Given the description of an element on the screen output the (x, y) to click on. 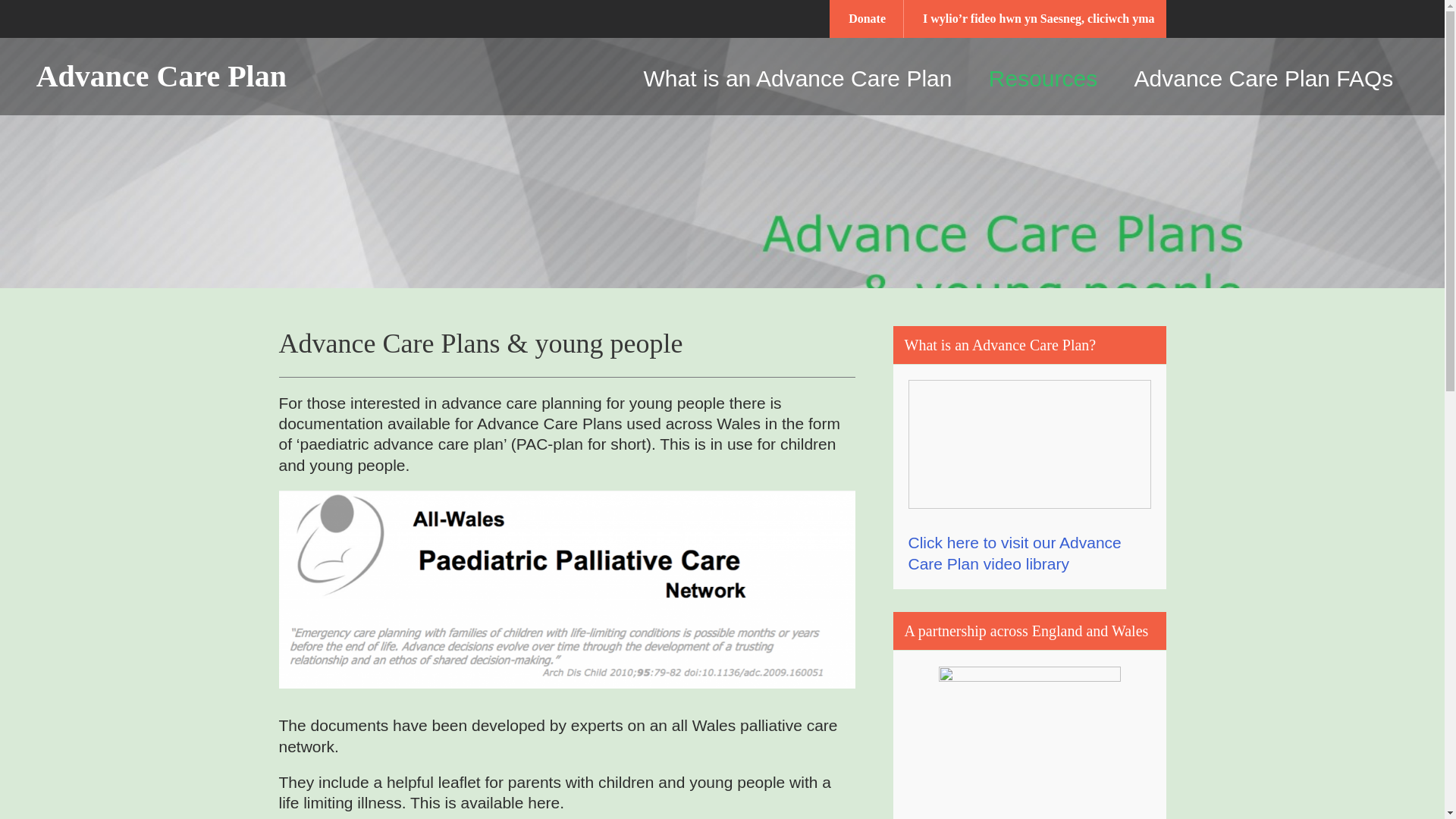
Click here to visit our Advance Care Plan video library (1014, 552)
Advance Care Plan FAQs (1264, 78)
Donate (866, 18)
What is an Advance Care Plan (798, 78)
Resources (1043, 78)
Advance Care Plan (168, 76)
